Given the description of an element on the screen output the (x, y) to click on. 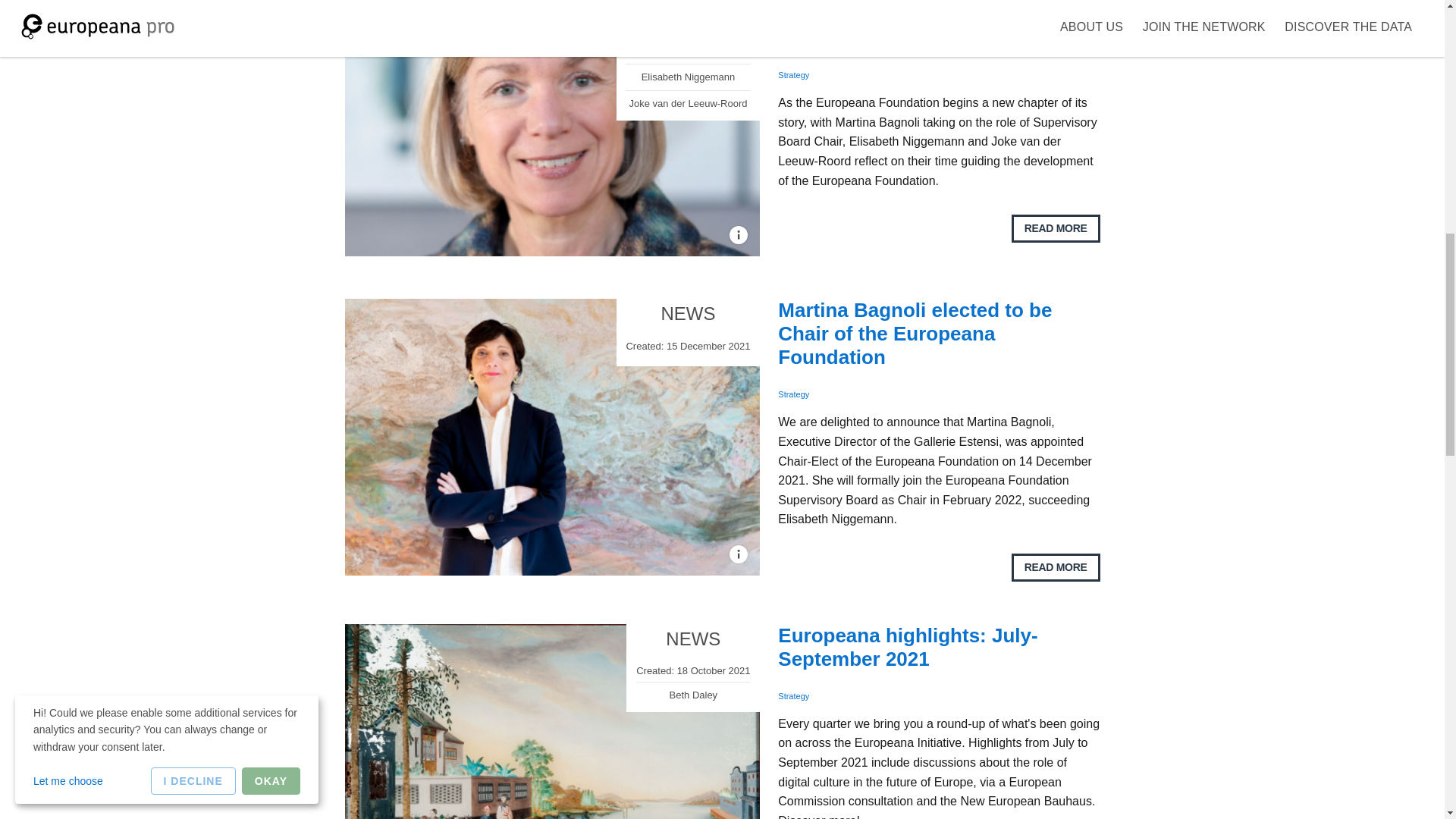
Strategy (793, 393)
READ MORE (1055, 228)
Strategy (793, 74)
Strategy (793, 696)
Europeana highlights: July-September 2021 (906, 647)
READ MORE (1055, 567)
